Given the description of an element on the screen output the (x, y) to click on. 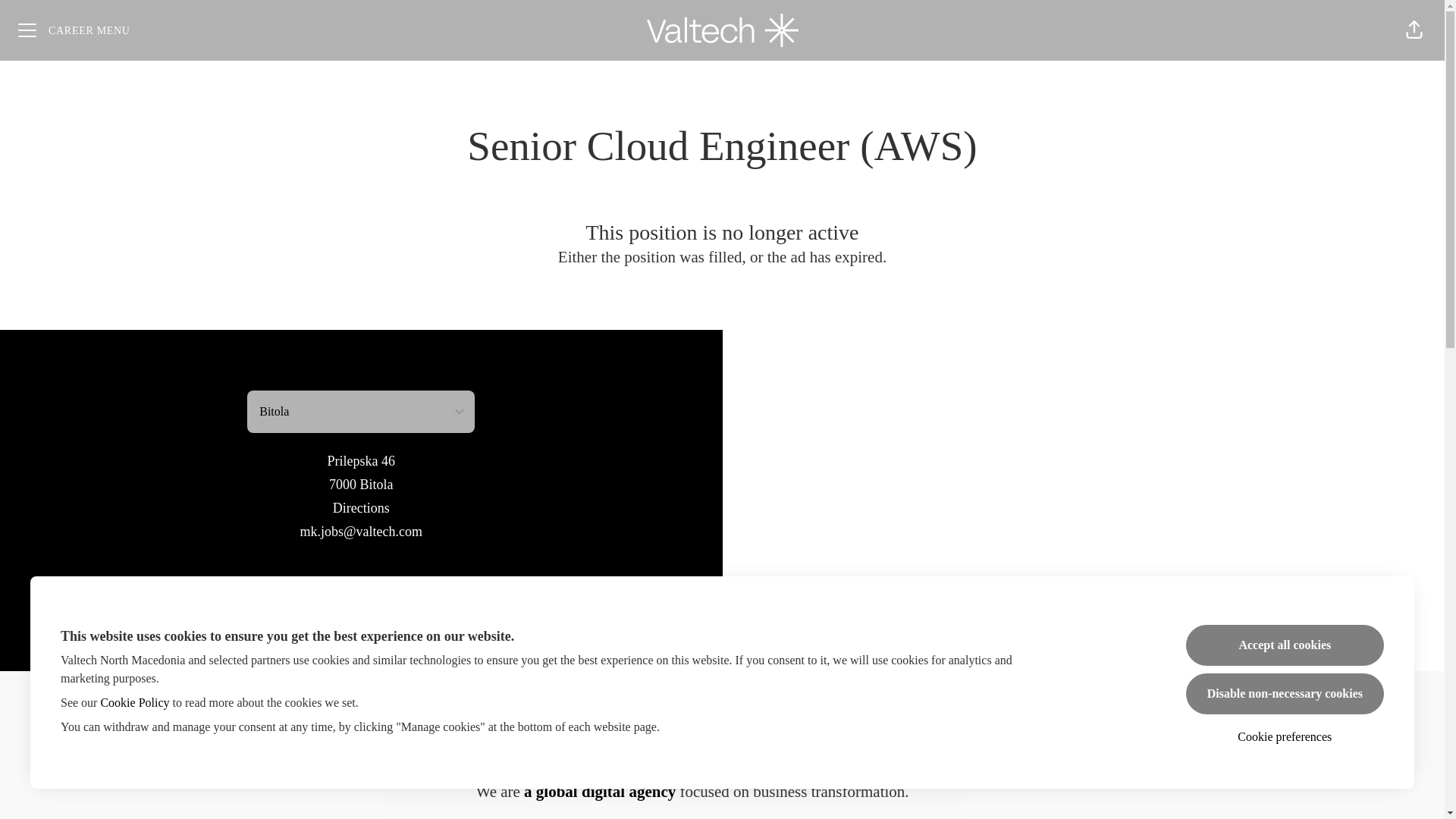
Share page (1414, 30)
CAREER MENU (73, 30)
Cookie Policy (134, 702)
Accept all cookies (1285, 644)
Select location (360, 411)
Directions (361, 507)
Cookie preferences (1284, 736)
Disable non-necessary cookies (1285, 693)
Career menu (73, 30)
a global digital agency (599, 791)
